Given the description of an element on the screen output the (x, y) to click on. 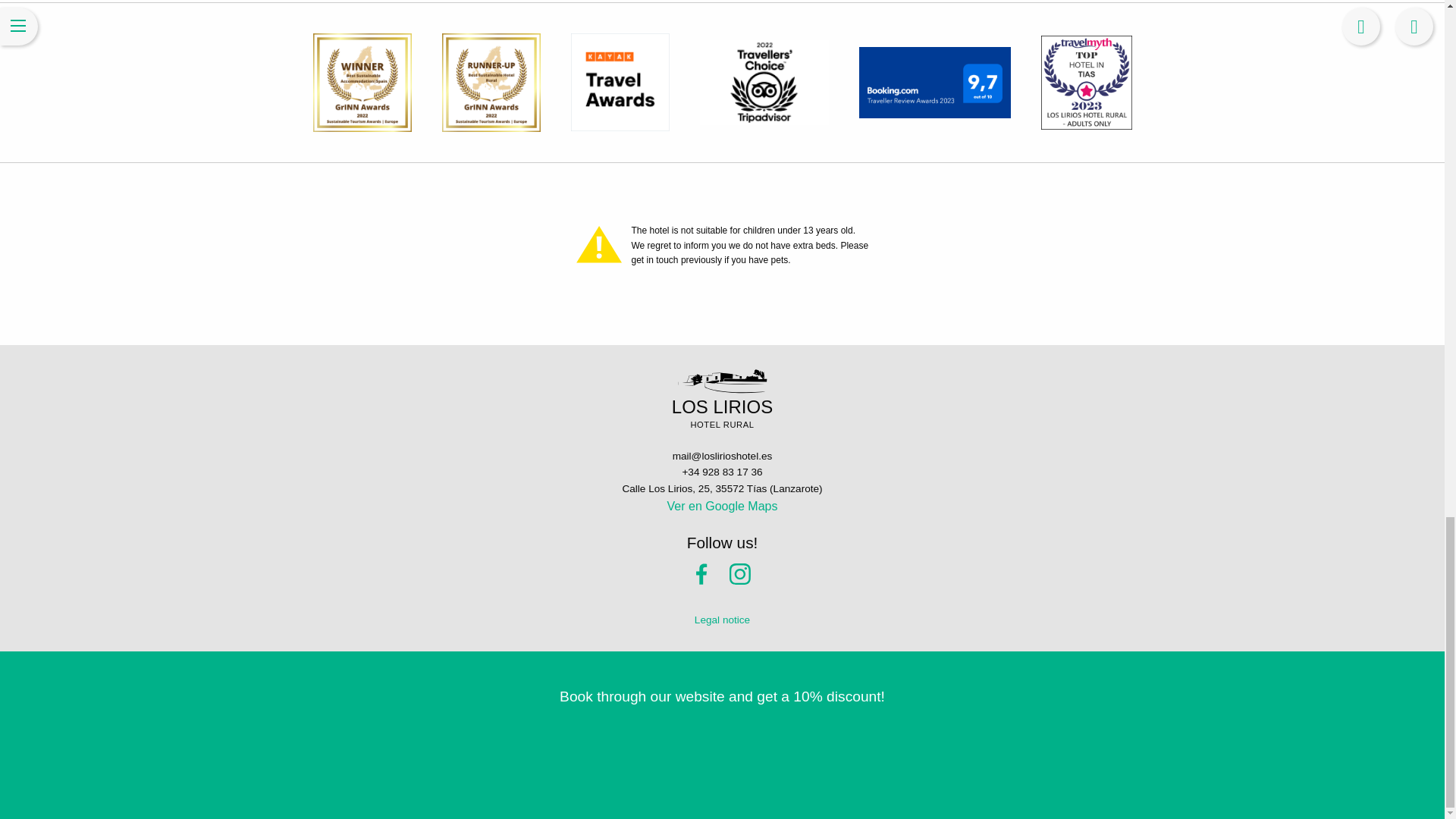
Legal notice (721, 619)
Ver en Google Maps (721, 505)
